Given the description of an element on the screen output the (x, y) to click on. 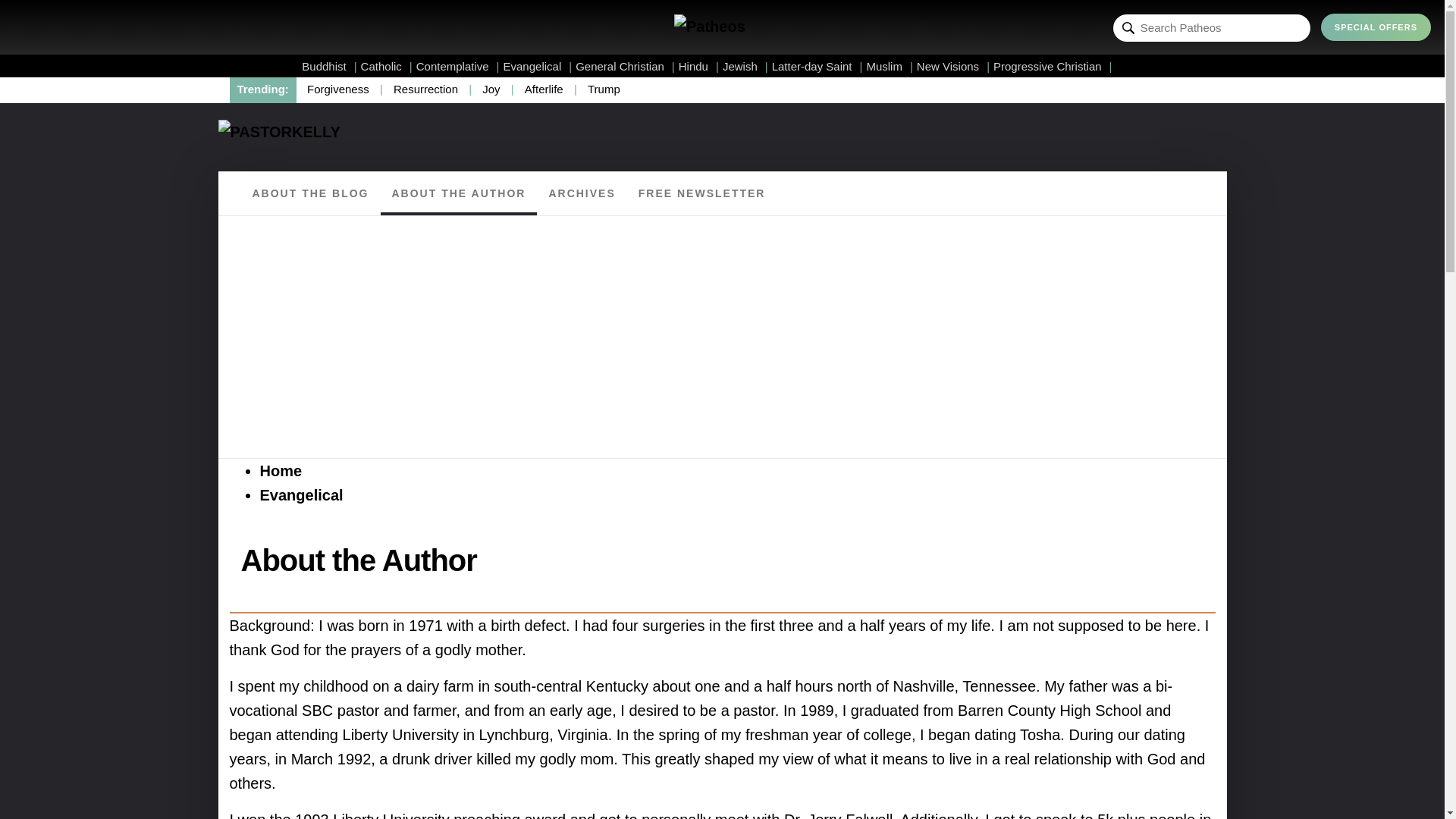
Latter-day Saint (817, 65)
Hindu (698, 65)
Catholic (386, 65)
General Christian (625, 65)
Contemplative (457, 65)
Buddhist (328, 65)
Jewish (745, 65)
New Visions (953, 65)
Evangelical (537, 65)
Muslim (889, 65)
Progressive Christian (1052, 65)
SPECIAL OFFERS (1375, 26)
